Given the description of an element on the screen output the (x, y) to click on. 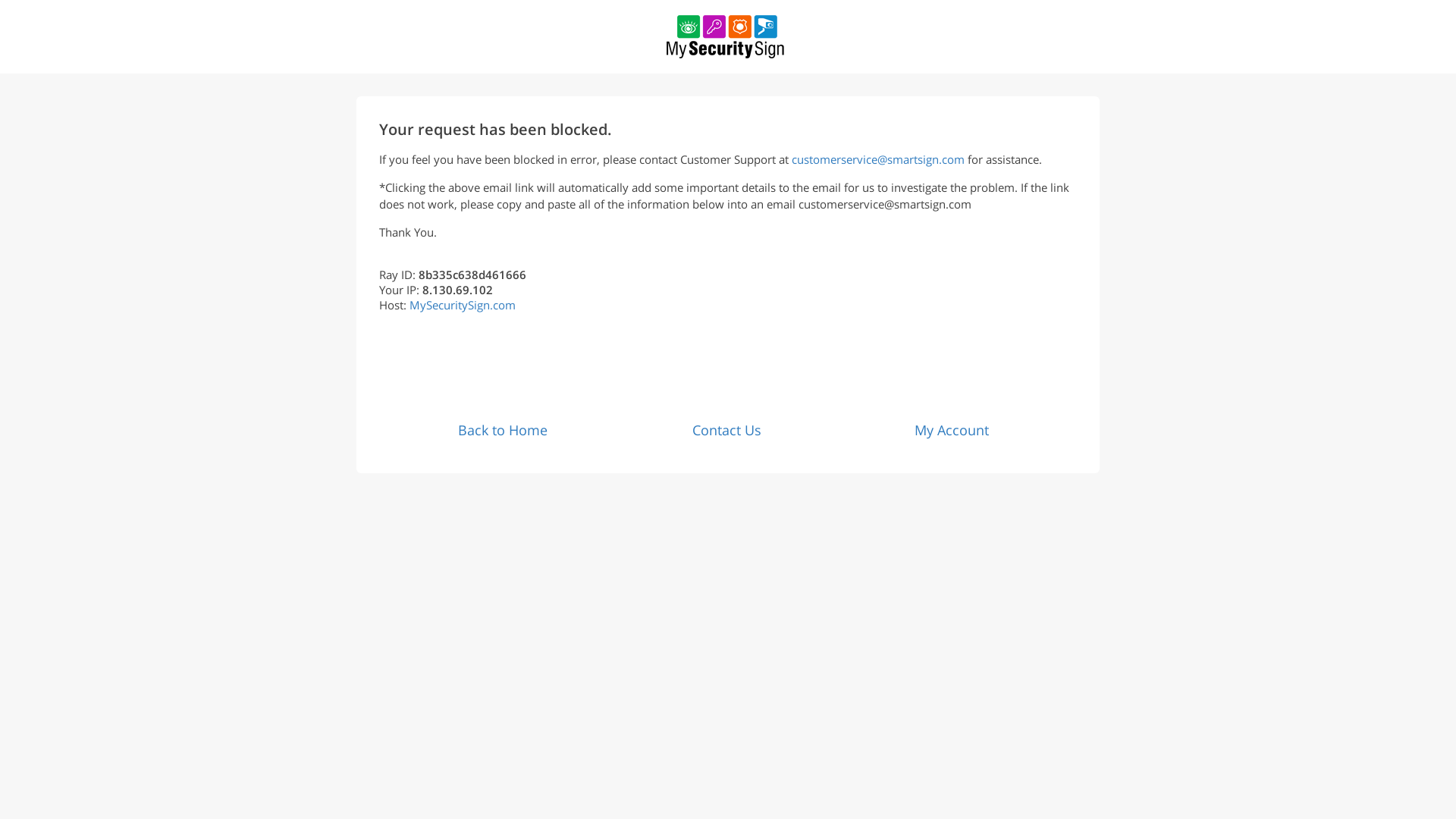
Contact Us (727, 429)
Back to Home (502, 429)
MySecuritySign.com (462, 304)
xpressstamp.com (727, 36)
My Account (951, 429)
